Given the description of an element on the screen output the (x, y) to click on. 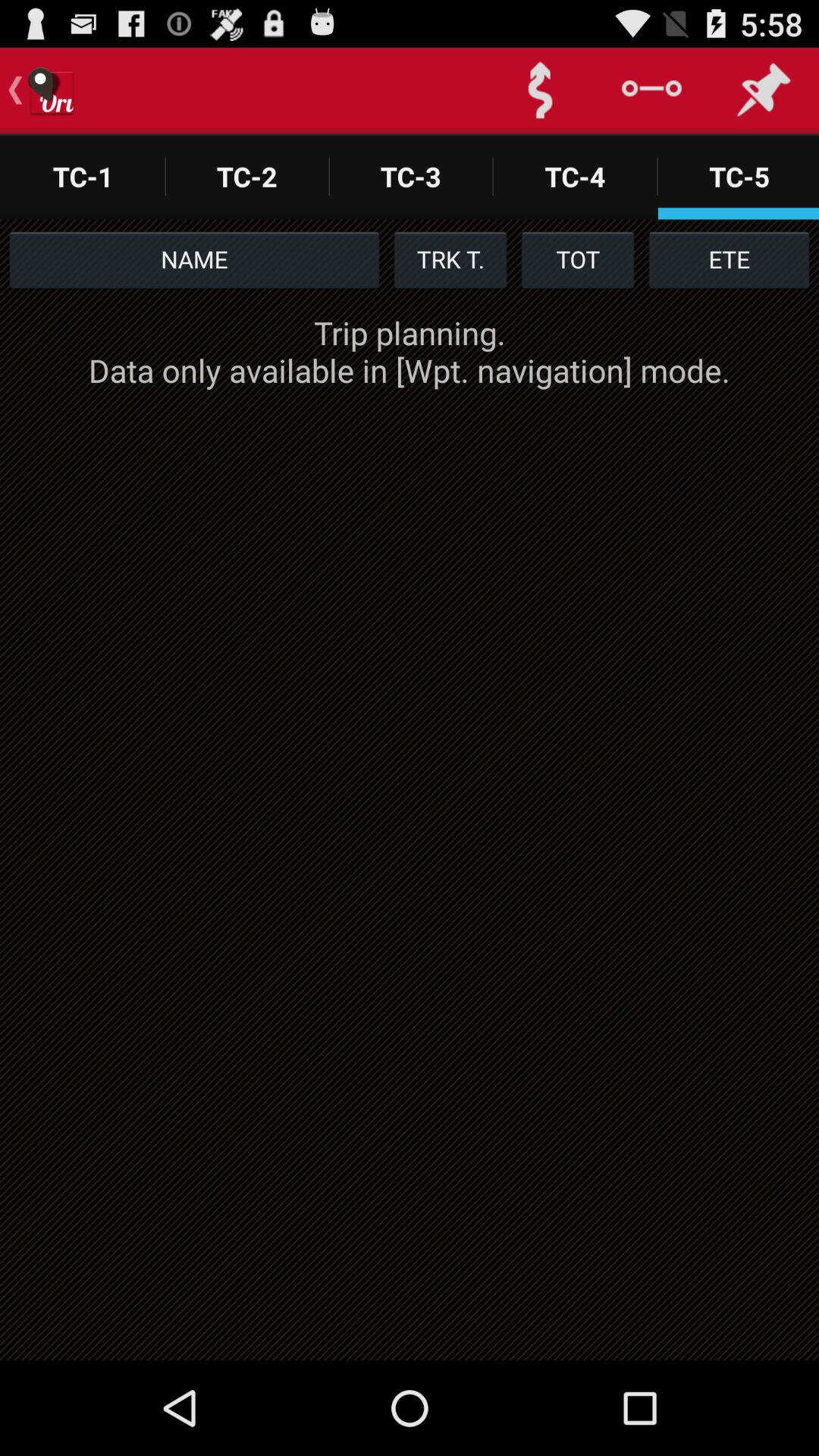
click trk t. item (450, 259)
